Given the description of an element on the screen output the (x, y) to click on. 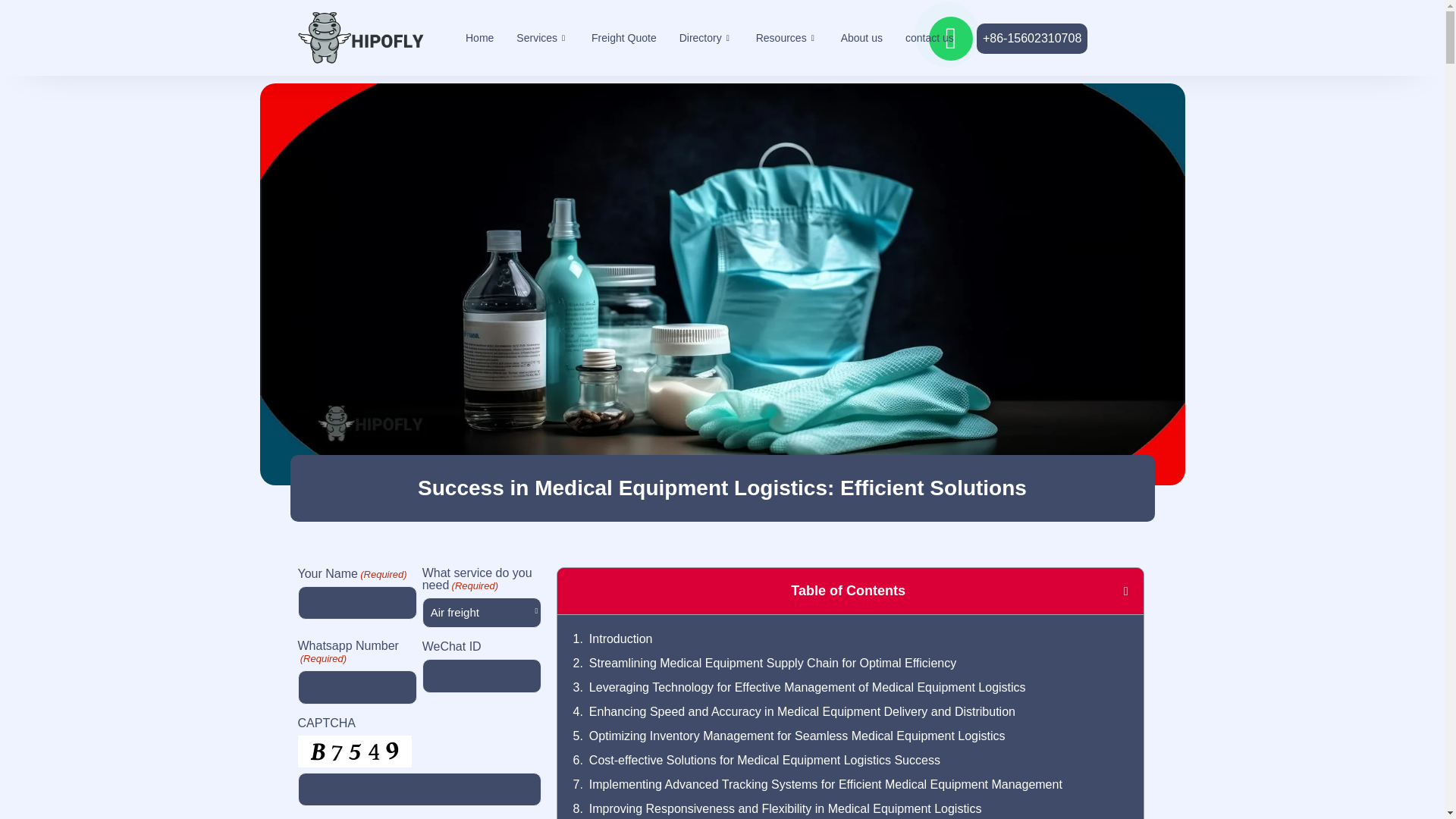
Freight Quote (623, 37)
Home (479, 37)
Services (542, 37)
Directory (706, 37)
